Given the description of an element on the screen output the (x, y) to click on. 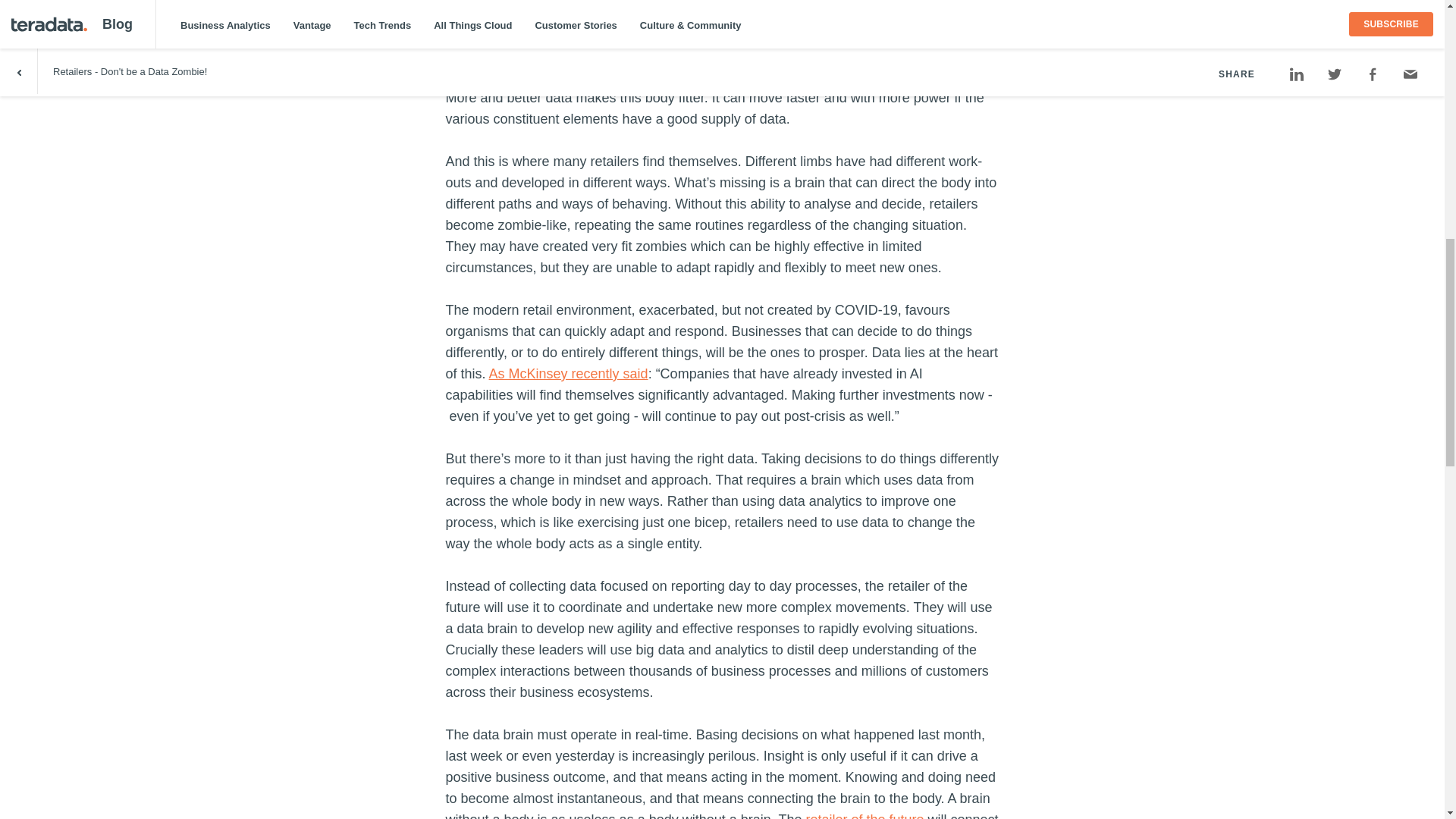
retailer of the future (864, 815)
As McKinsey recently said (568, 373)
